Given the description of an element on the screen output the (x, y) to click on. 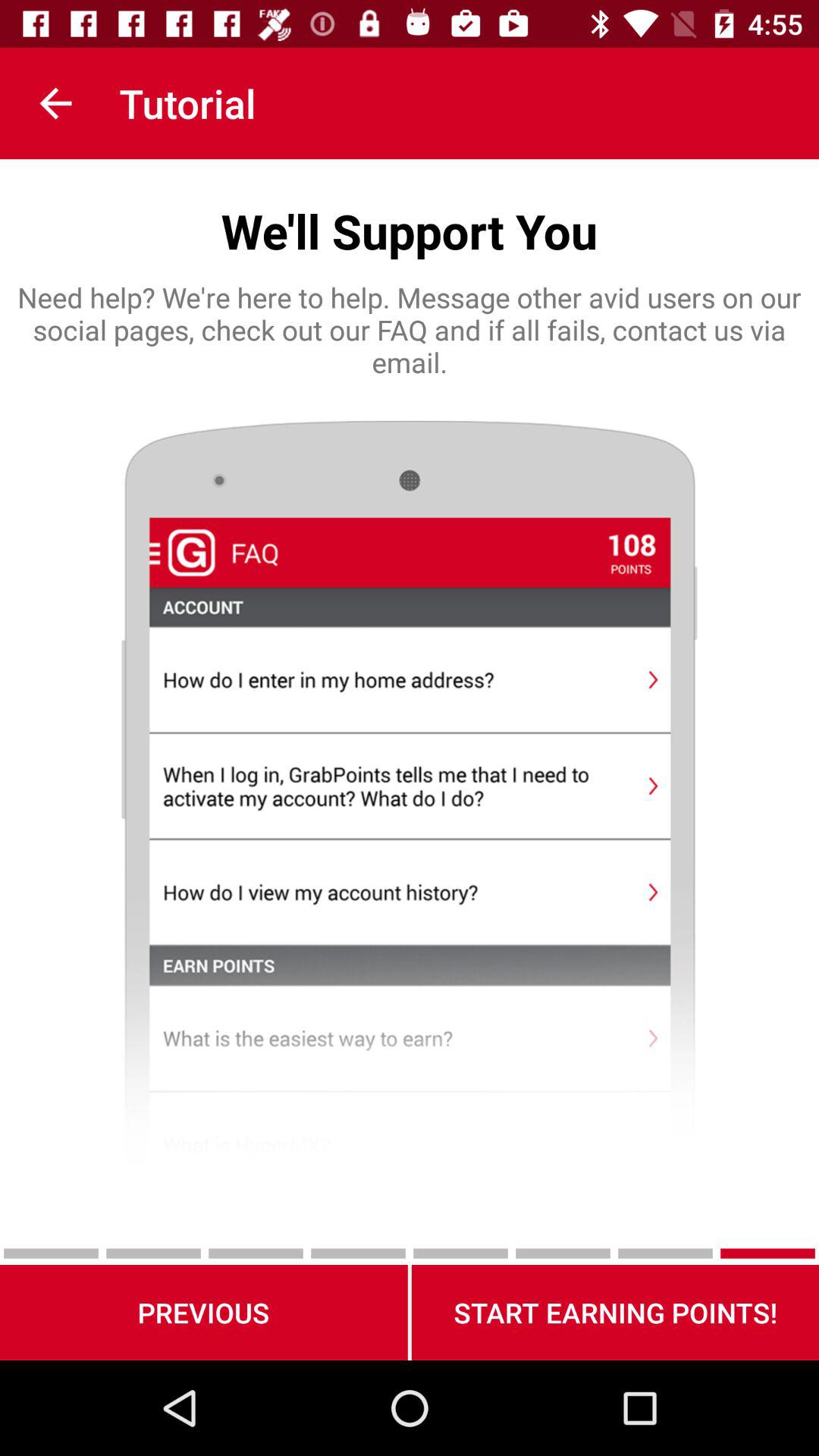
select the start earning points! at the bottom right corner (615, 1312)
